Given the description of an element on the screen output the (x, y) to click on. 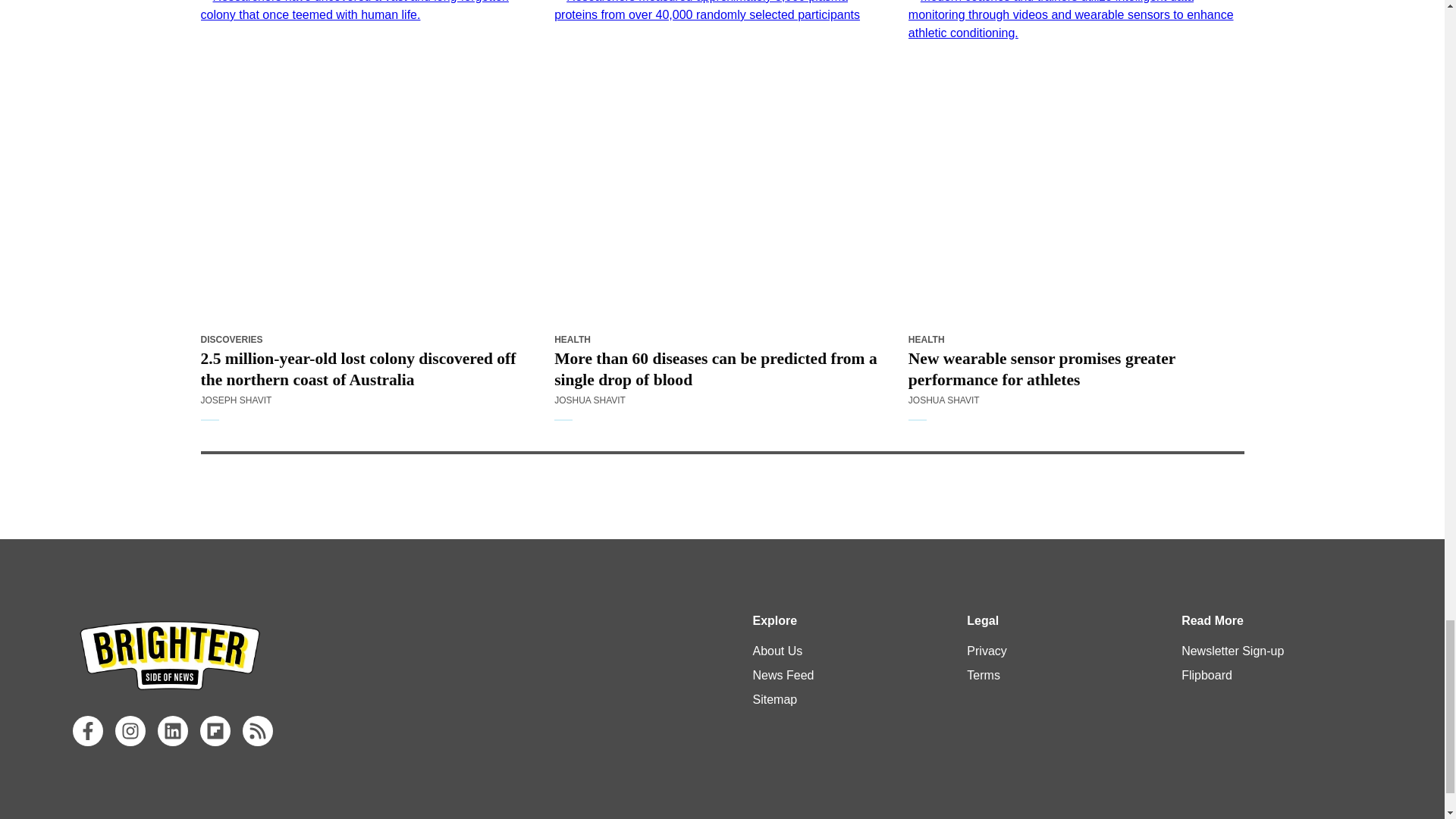
Instagram (130, 730)
JOSHUA SHAVIT (590, 399)
HEALTH (572, 339)
JOSHUA SHAVIT (943, 399)
Linkedin (172, 730)
Rss (258, 730)
DISCOVERIES (231, 339)
Flipboard (215, 730)
Facebook (87, 730)
